Given the description of an element on the screen output the (x, y) to click on. 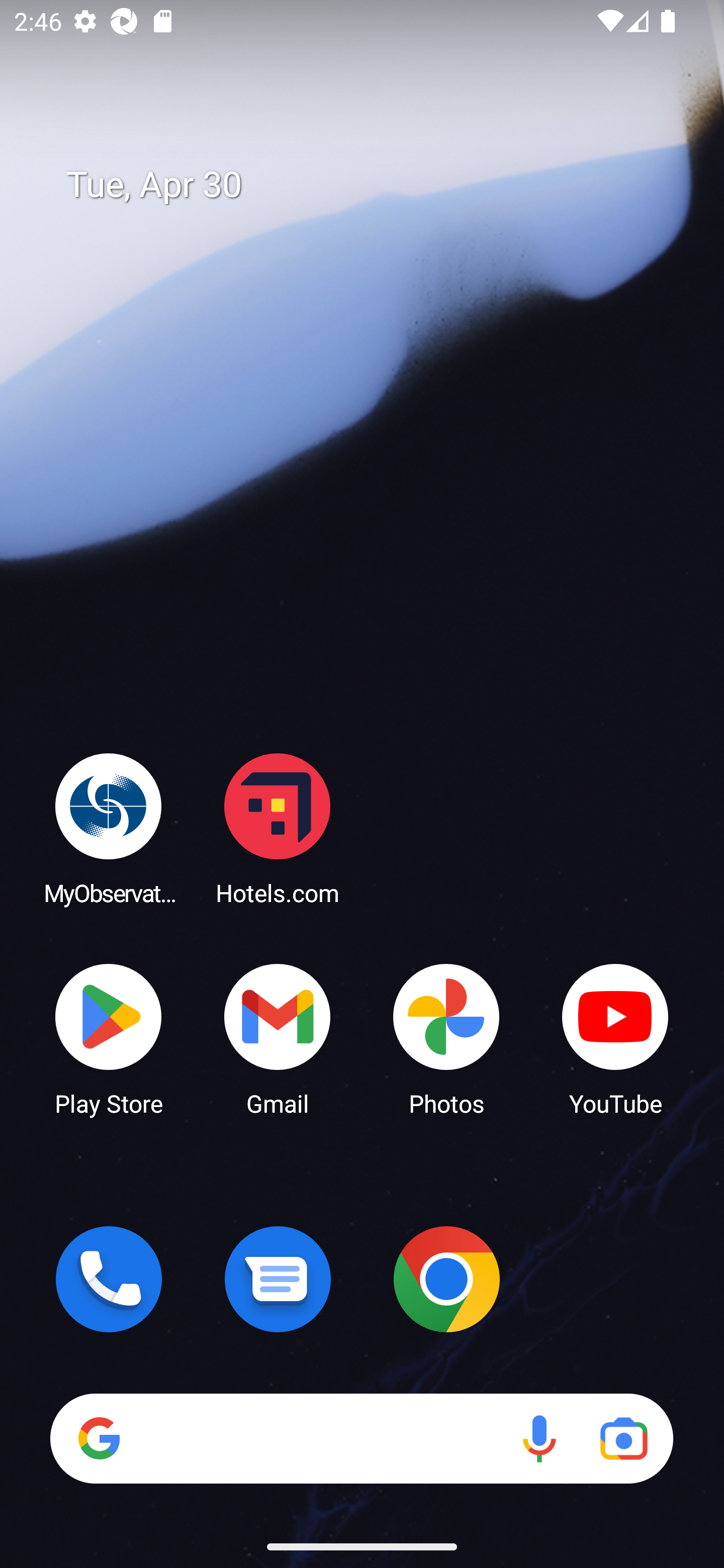
Tue, Apr 30 (375, 184)
MyObservatory (108, 828)
Hotels.com (277, 828)
Play Store (108, 1038)
Gmail (277, 1038)
Photos (445, 1038)
YouTube (615, 1038)
Phone (108, 1279)
Messages (277, 1279)
Chrome (446, 1279)
Voice search (539, 1438)
Google Lens (623, 1438)
